Given the description of an element on the screen output the (x, y) to click on. 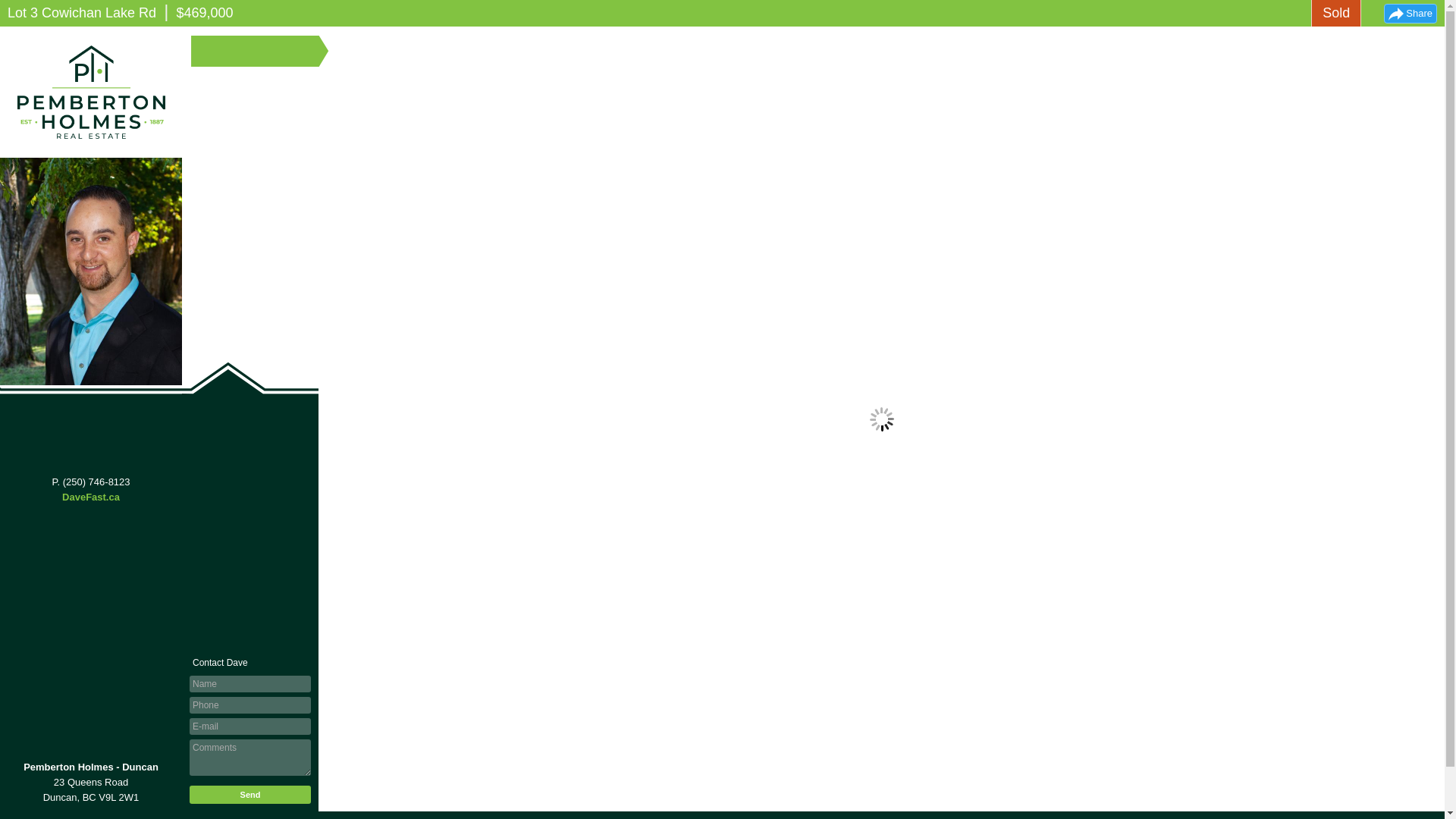
Send (250, 794)
DaveFast.ca (90, 496)
Share (1410, 13)
Visit website.. (90, 496)
Share this listing (1410, 13)
